Given the description of an element on the screen output the (x, y) to click on. 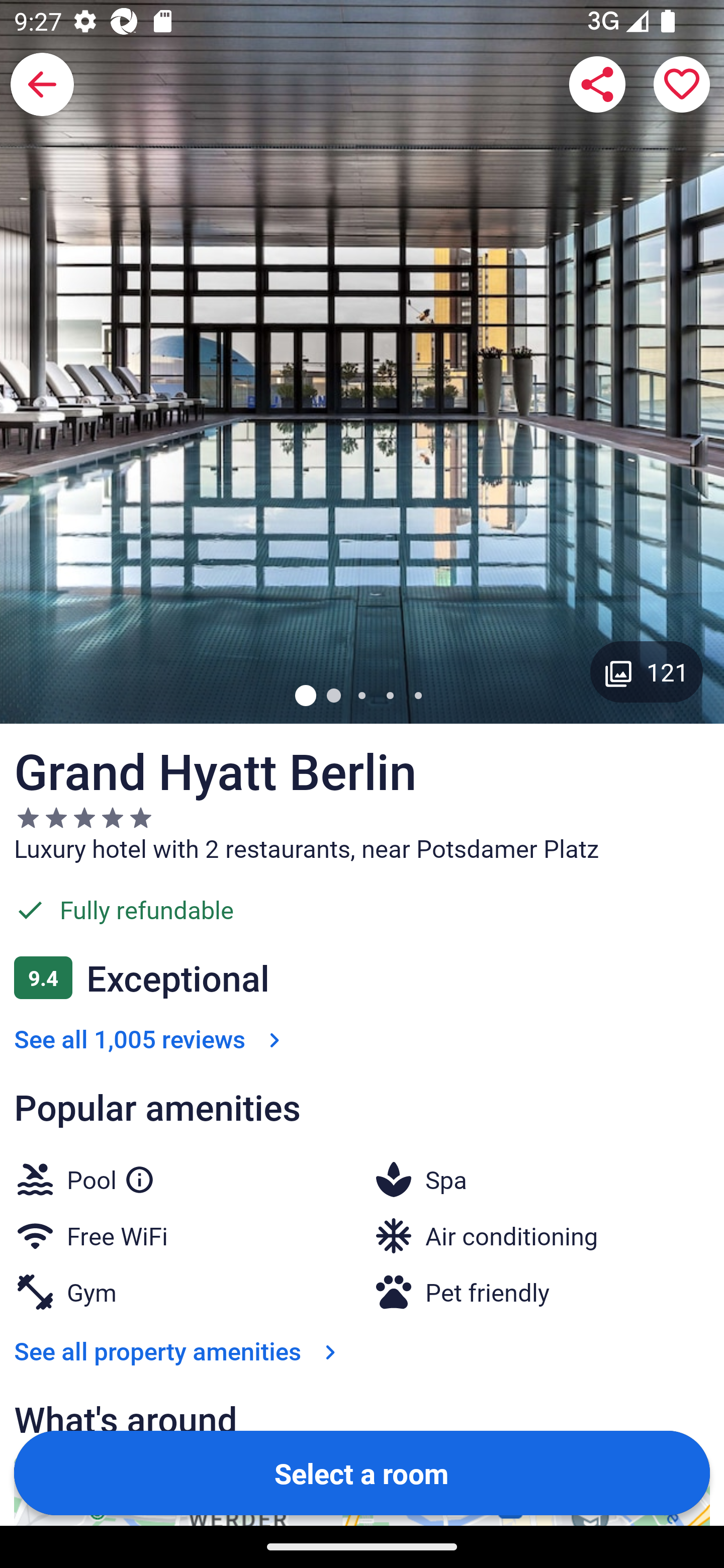
Back (42, 84)
Save property to a trip (681, 84)
Share Grand Hyatt Berlin (597, 84)
Gallery button with 121 images (646, 671)
See all 1,005 reviews See all 1,005 reviews Link (150, 1038)
Pool (110, 1175)
See all property amenities (178, 1350)
Select a room Button Select a room (361, 1472)
